Given the description of an element on the screen output the (x, y) to click on. 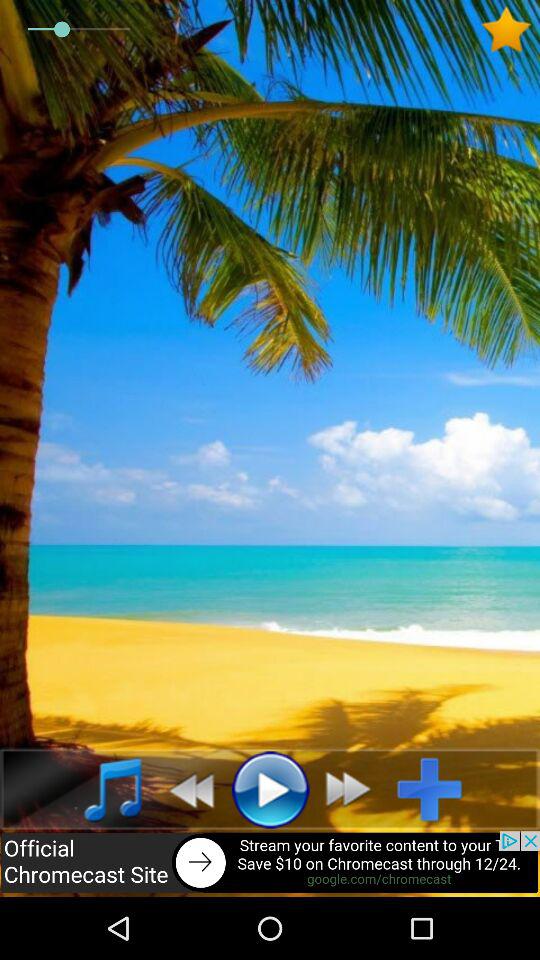
view advertisement site (270, 864)
